Given the description of an element on the screen output the (x, y) to click on. 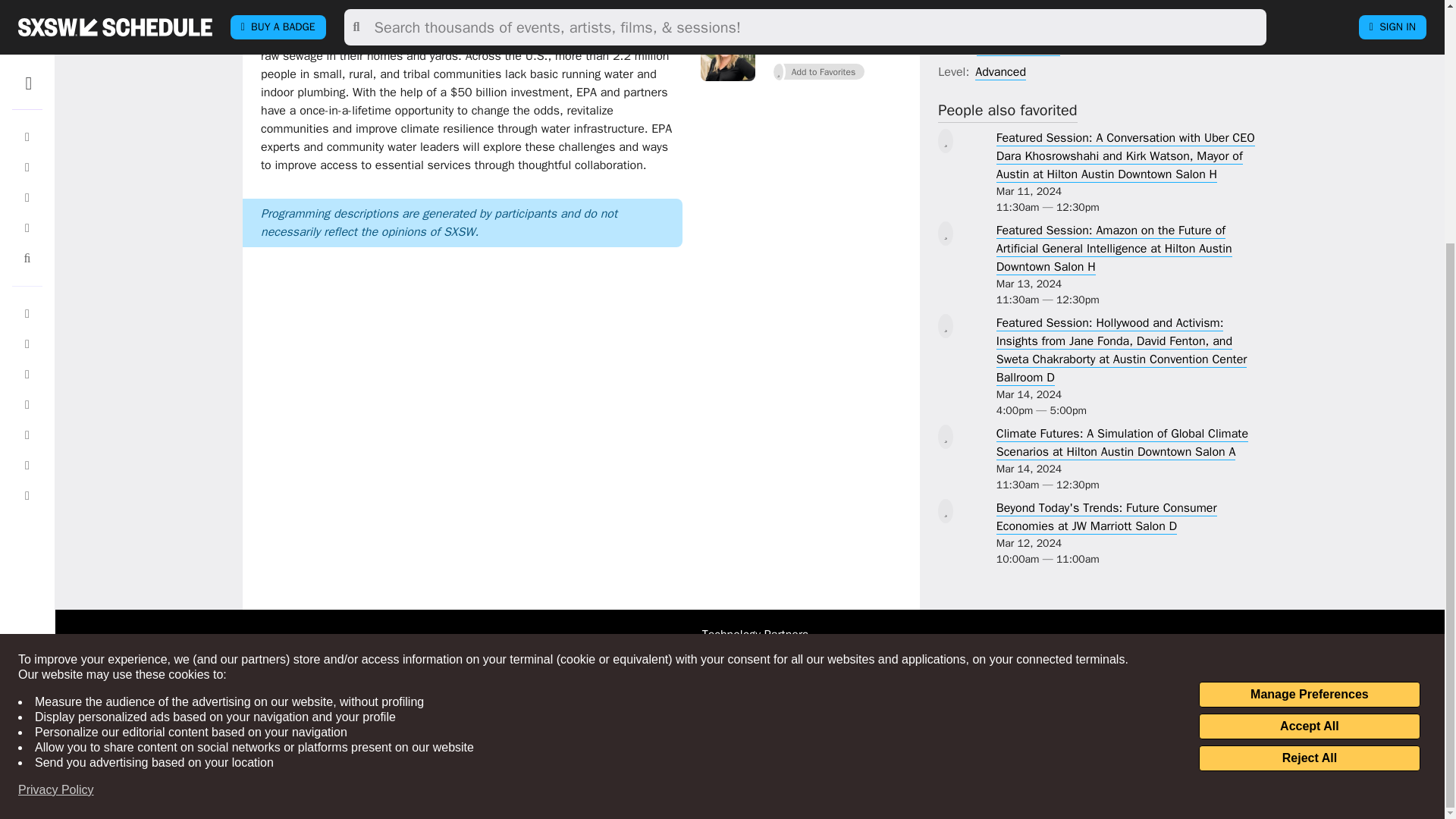
Sign In to add to your favorites. (818, 3)
Reject All (1309, 420)
Accept All (1309, 388)
Sign In to add to your favorites. (818, 71)
Manage Preferences (1309, 356)
Privacy Policy (55, 452)
